Given the description of an element on the screen output the (x, y) to click on. 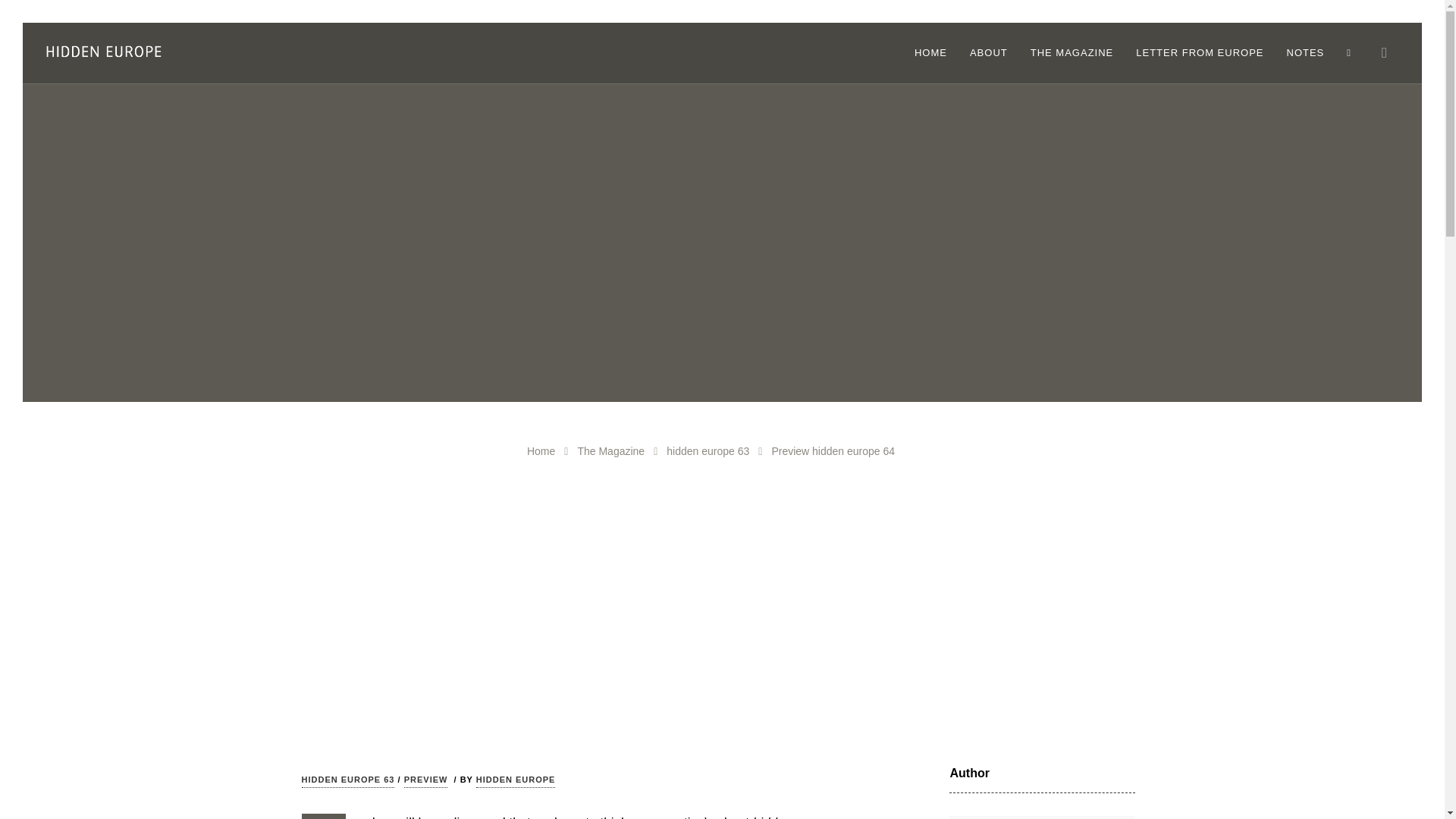
PREVIEW (426, 780)
The Magazine (610, 451)
THE MAGAZINE (1071, 52)
LETTER FROM EUROPE (1199, 52)
HIDDEN EUROPE (516, 780)
Home (540, 451)
HIDDEN EUROPE 63 (347, 780)
hidden europe 63 (707, 451)
